Given the description of an element on the screen output the (x, y) to click on. 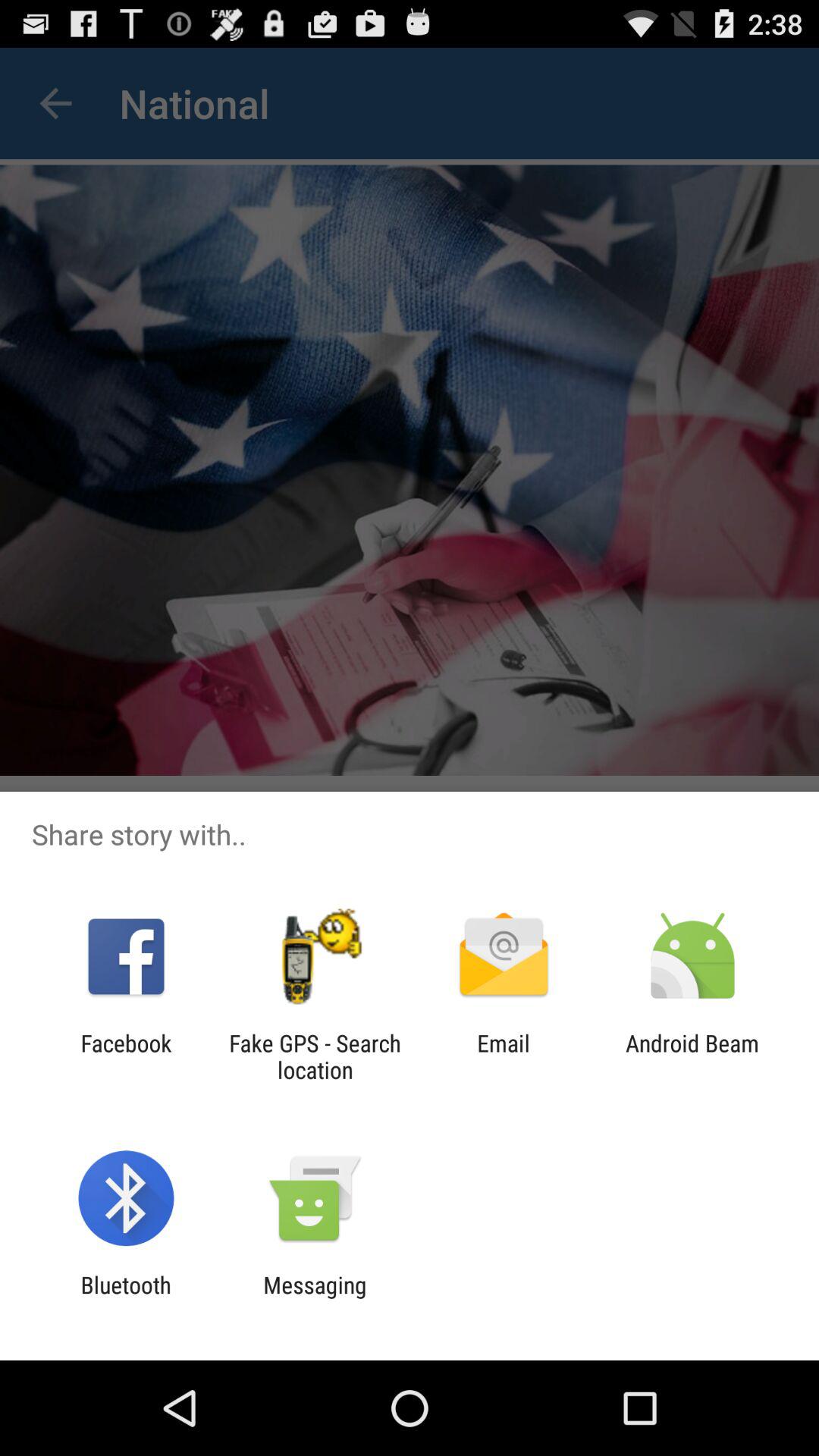
tap the bluetooth item (125, 1298)
